Given the description of an element on the screen output the (x, y) to click on. 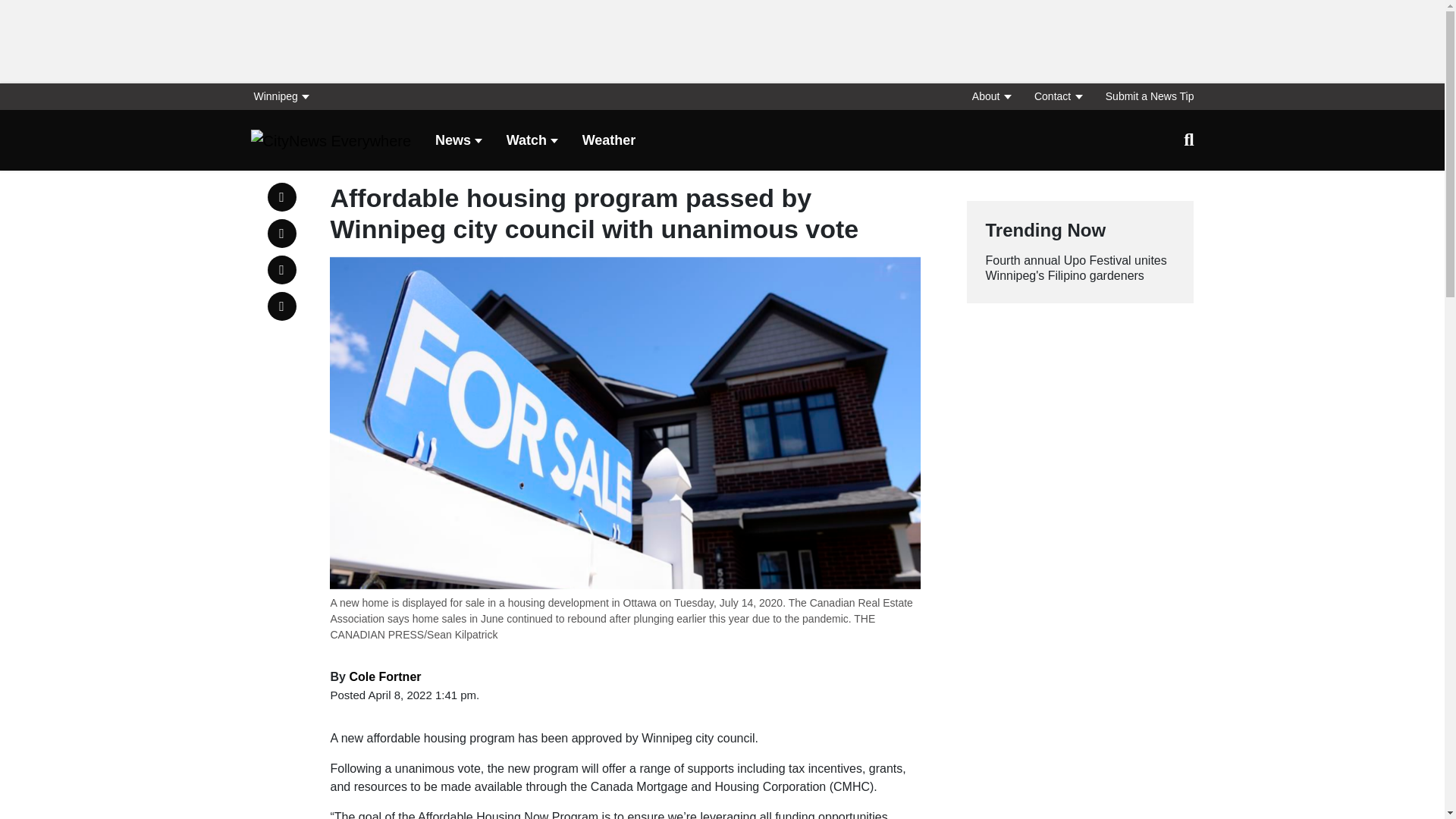
About (990, 96)
Watch (531, 140)
Winnipeg (285, 96)
Contact (1057, 96)
Weather (609, 140)
Submit a News Tip (1143, 96)
News (458, 140)
